Given the description of an element on the screen output the (x, y) to click on. 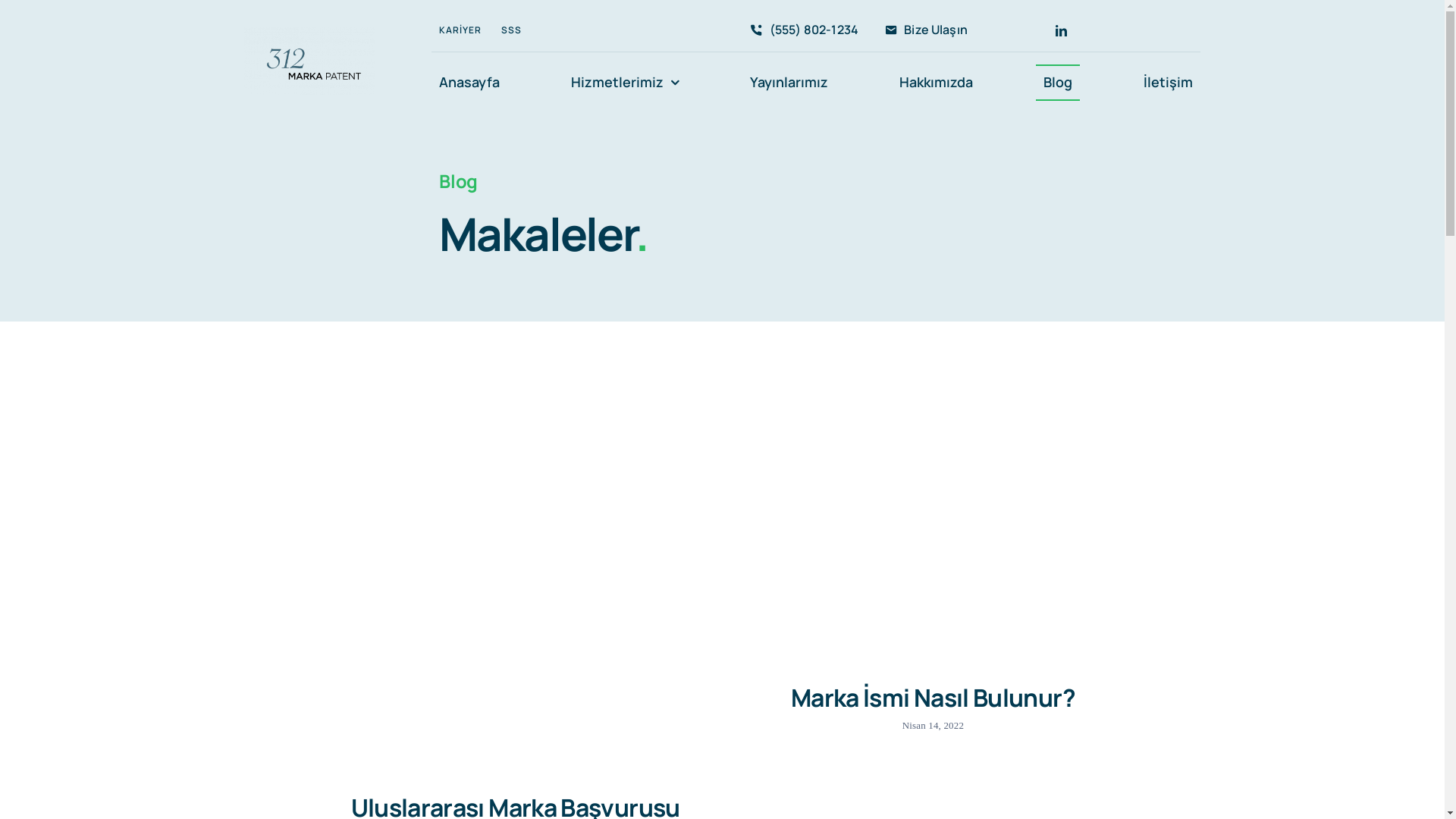
LinkedIn Element type: hover (1060, 30)
SSS Element type: text (511, 30)
(555) 802-1234 Element type: text (801, 30)
Blog Element type: text (1057, 82)
KARIYER Element type: text (460, 30)
Anasayfa Element type: text (469, 82)
Hizmetlerimiz Element type: text (625, 82)
